Given the description of an element on the screen output the (x, y) to click on. 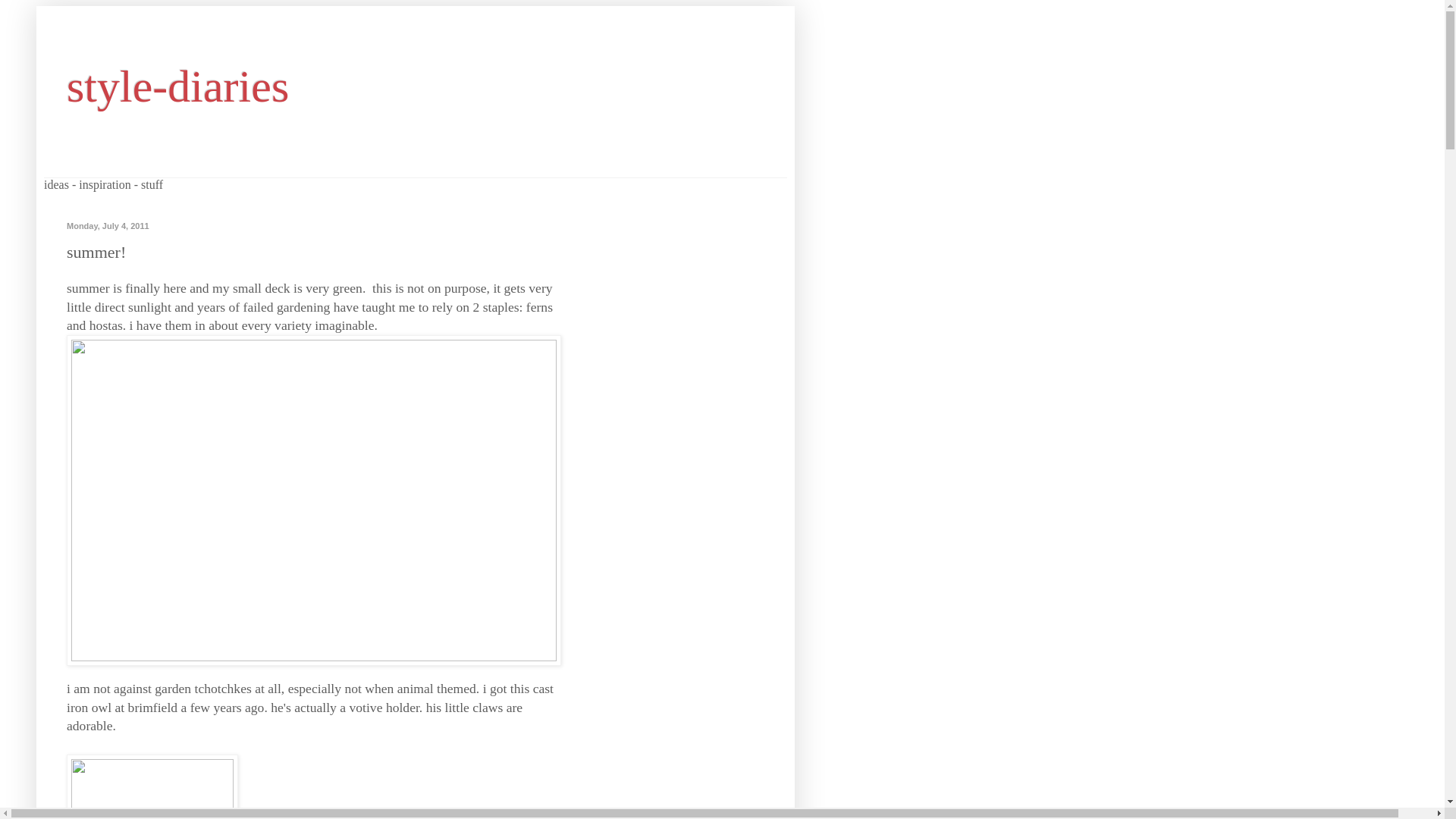
style-diaries (177, 86)
